Given the description of an element on the screen output the (x, y) to click on. 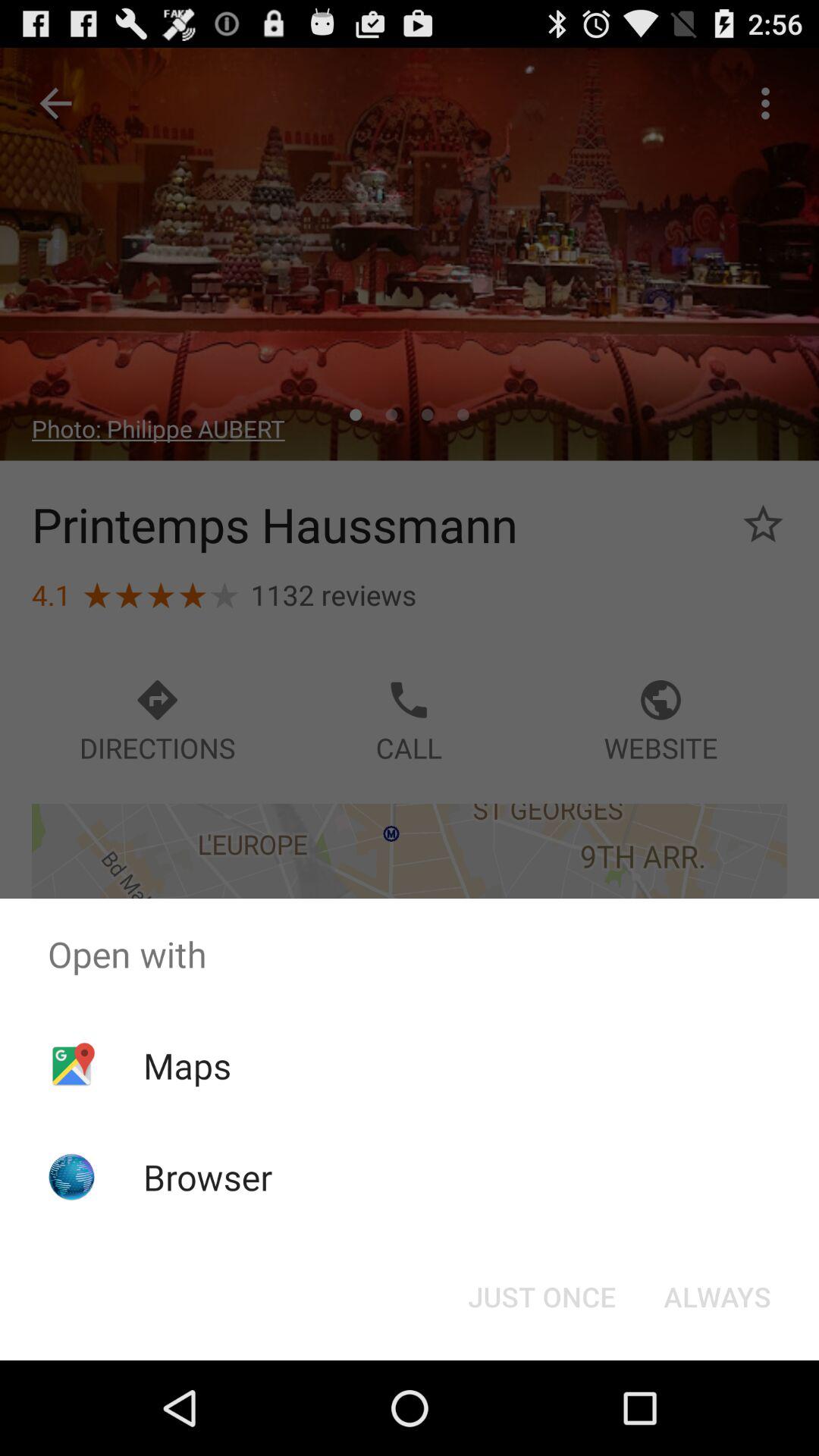
open the item to the right of the just once button (717, 1296)
